Given the description of an element on the screen output the (x, y) to click on. 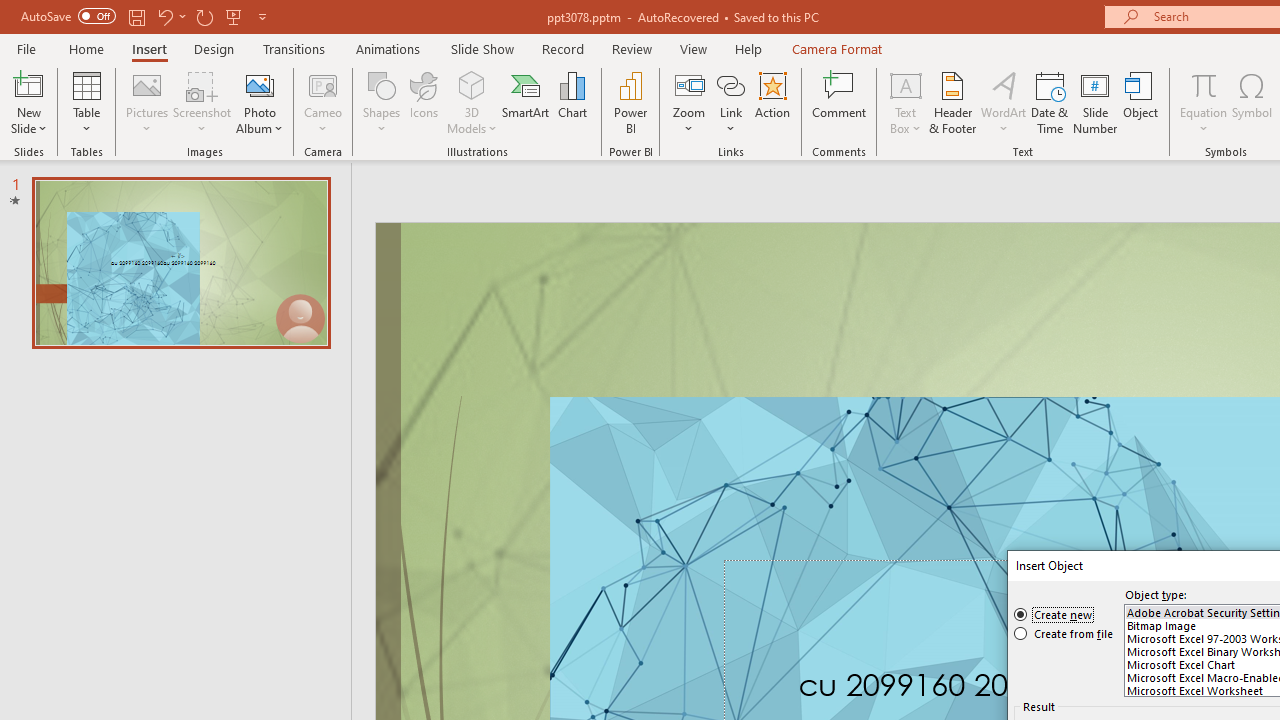
Chart... (572, 102)
Equation (1203, 102)
Icons (424, 102)
3D Models (472, 84)
Power BI (630, 102)
Create from file (1063, 633)
Create new (1053, 614)
Camera Format (836, 48)
